Given the description of an element on the screen output the (x, y) to click on. 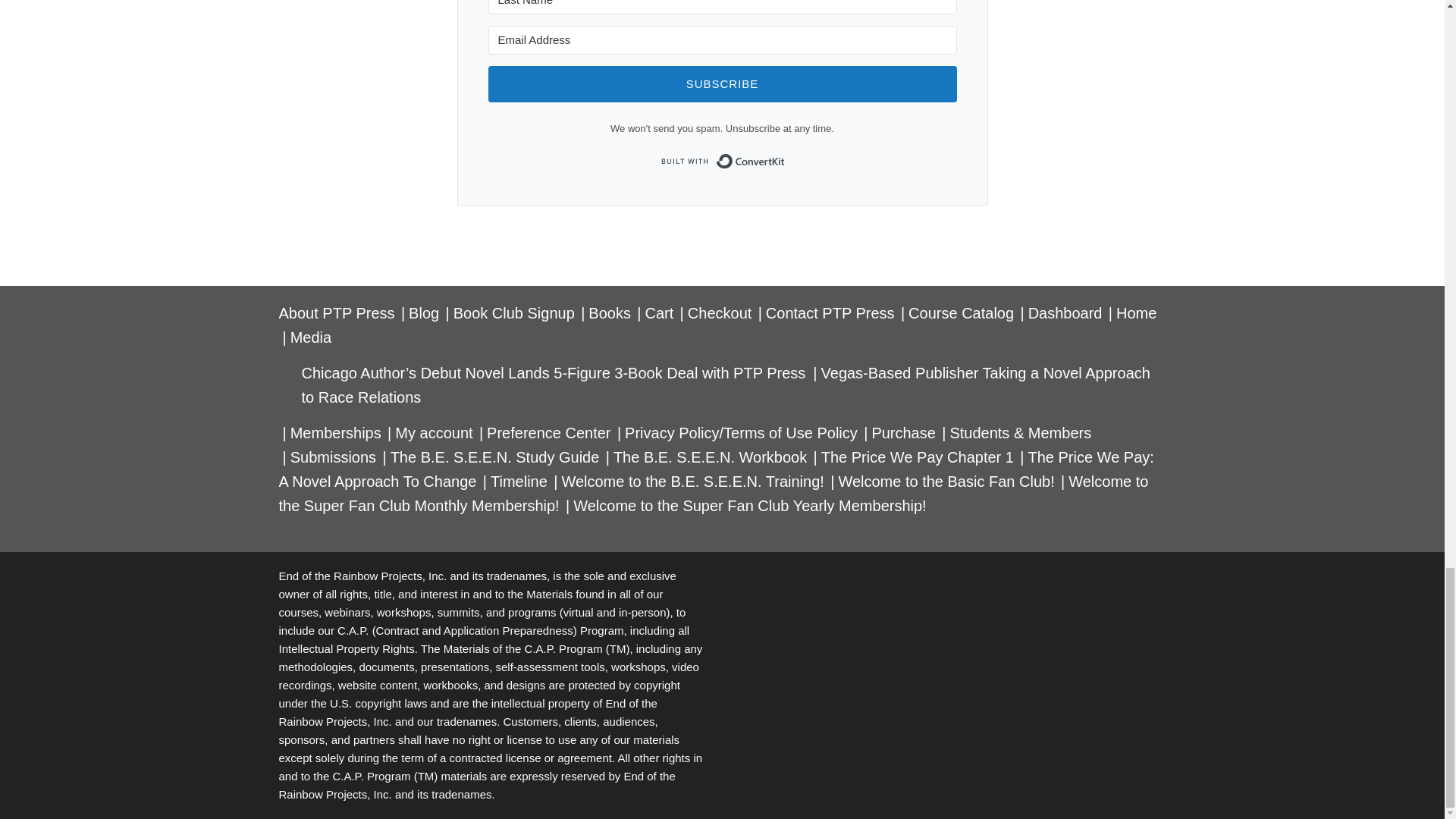
Contact PTP Press (830, 312)
Home (1136, 312)
Cart (658, 312)
Blog (424, 312)
Built with ConvertKit (722, 161)
Books (609, 312)
About PTP Press (336, 312)
Checkout (719, 312)
Course Catalog (960, 312)
SUBSCRIBE (721, 84)
Dashboard (1064, 312)
Book Club Signup (513, 312)
